Given the description of an element on the screen output the (x, y) to click on. 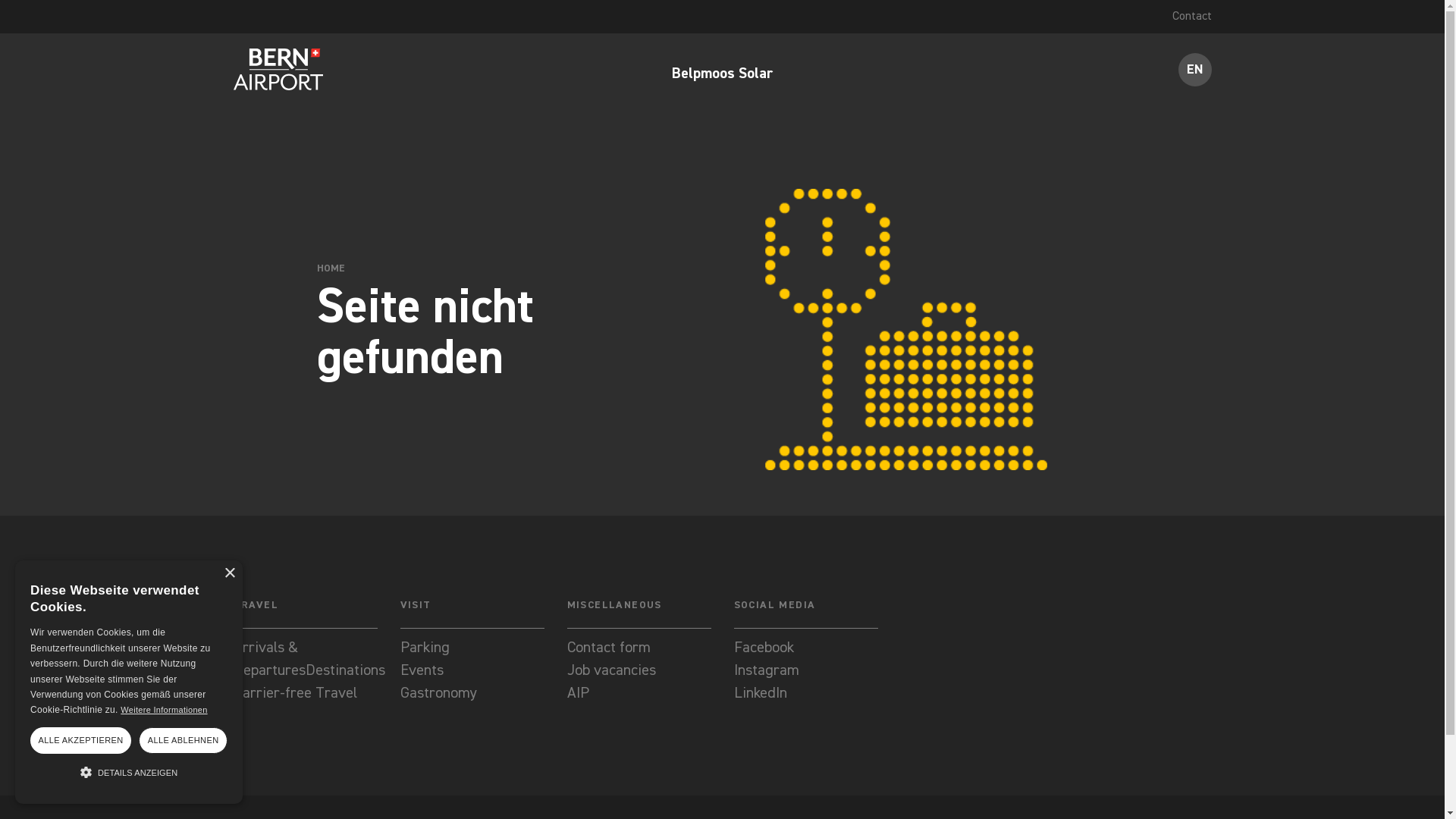
Weitere Informationen Element type: text (163, 709)
Belpmoos Solar Element type: text (721, 80)
HOME Element type: text (330, 268)
Contact Element type: text (1191, 16)
EN Element type: text (1194, 69)
